Given the description of an element on the screen output the (x, y) to click on. 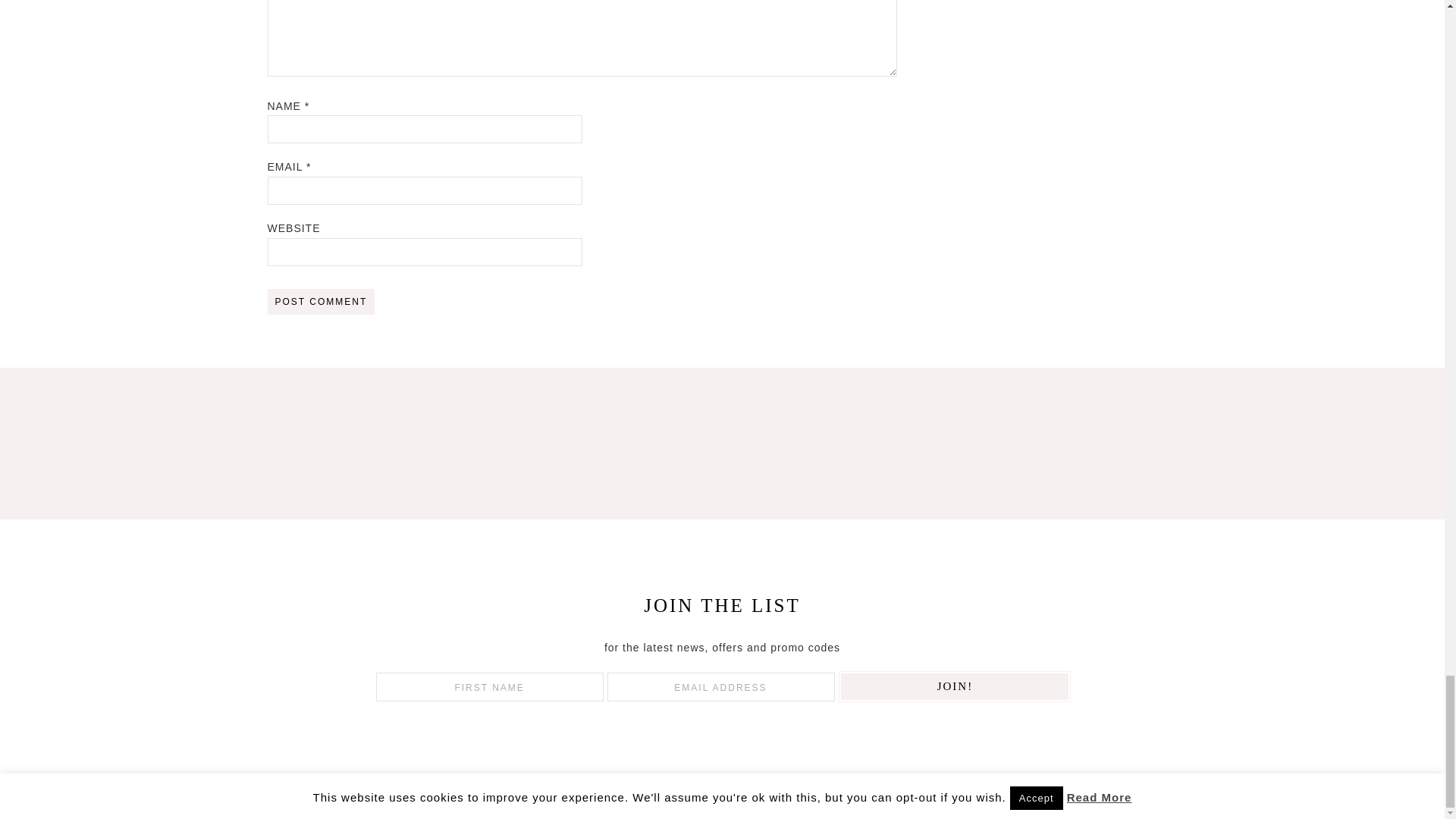
Post Comment (320, 301)
JOIN! (954, 686)
